Given the description of an element on the screen output the (x, y) to click on. 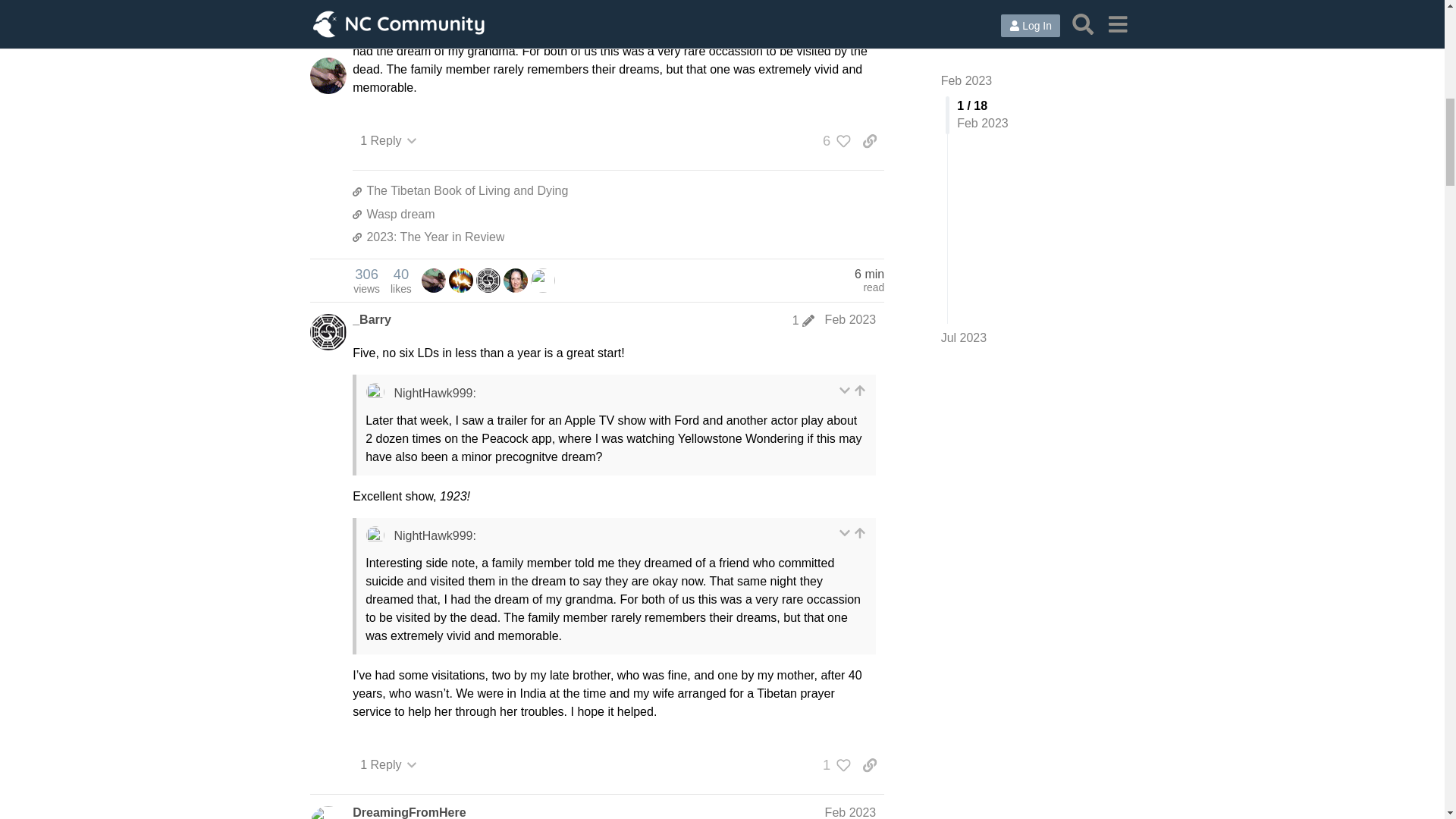
2023: The Year in Review (617, 237)
Wasp dream (366, 280)
1 Reply (617, 214)
Feb 2023 (387, 140)
The Tibetan Book of Living and Dying (850, 318)
6 (617, 190)
1 (832, 140)
